Given the description of an element on the screen output the (x, y) to click on. 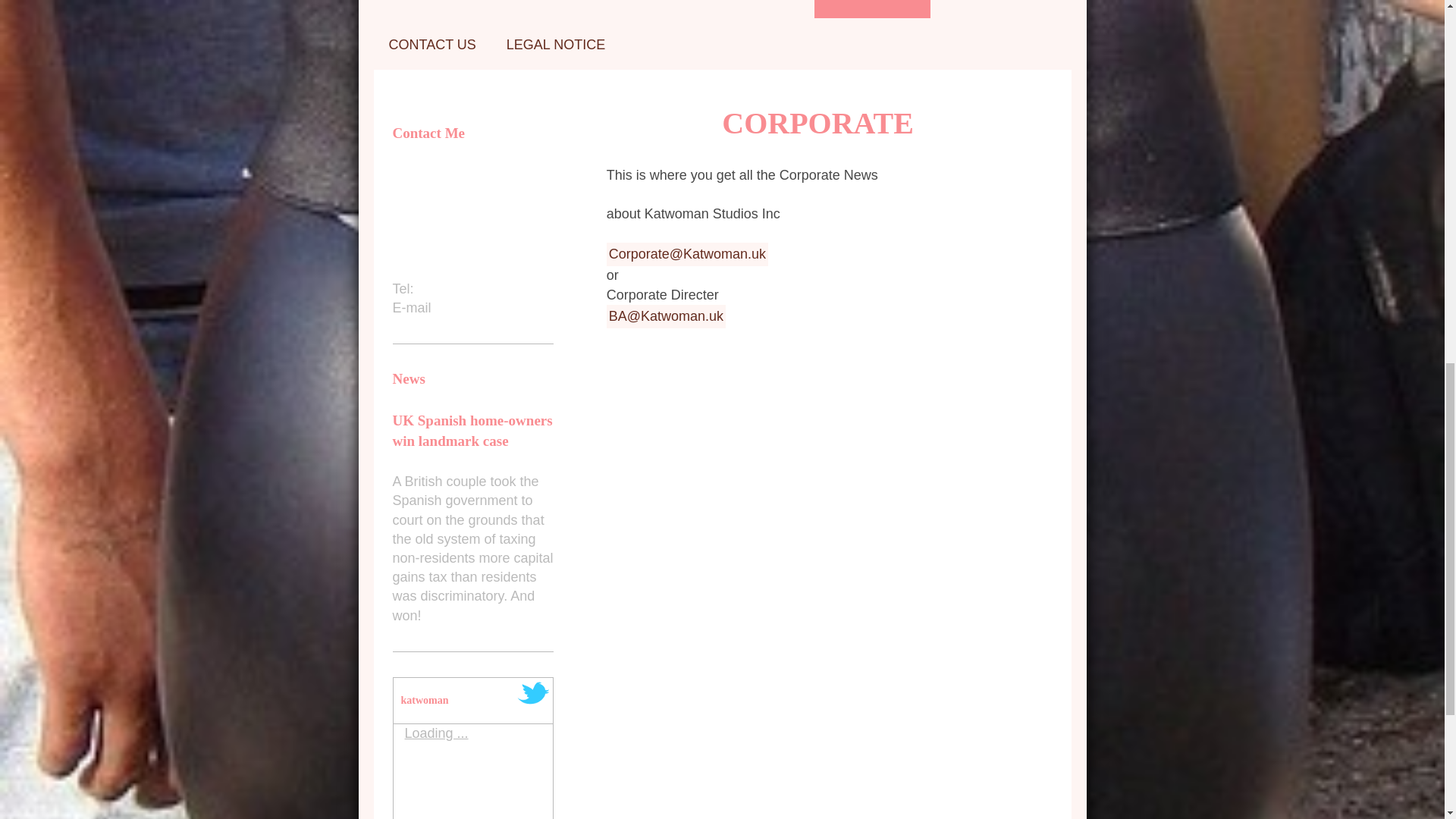
KATWOMAN STUDIOS (531, 9)
Loading ... (436, 733)
LEGAL NOTICE (556, 43)
CORPORATE (871, 9)
GALLERY (976, 9)
THE KINKY KIT KAT KLUB (715, 9)
CONTACT US (431, 43)
HOME (408, 9)
